Given the description of an element on the screen output the (x, y) to click on. 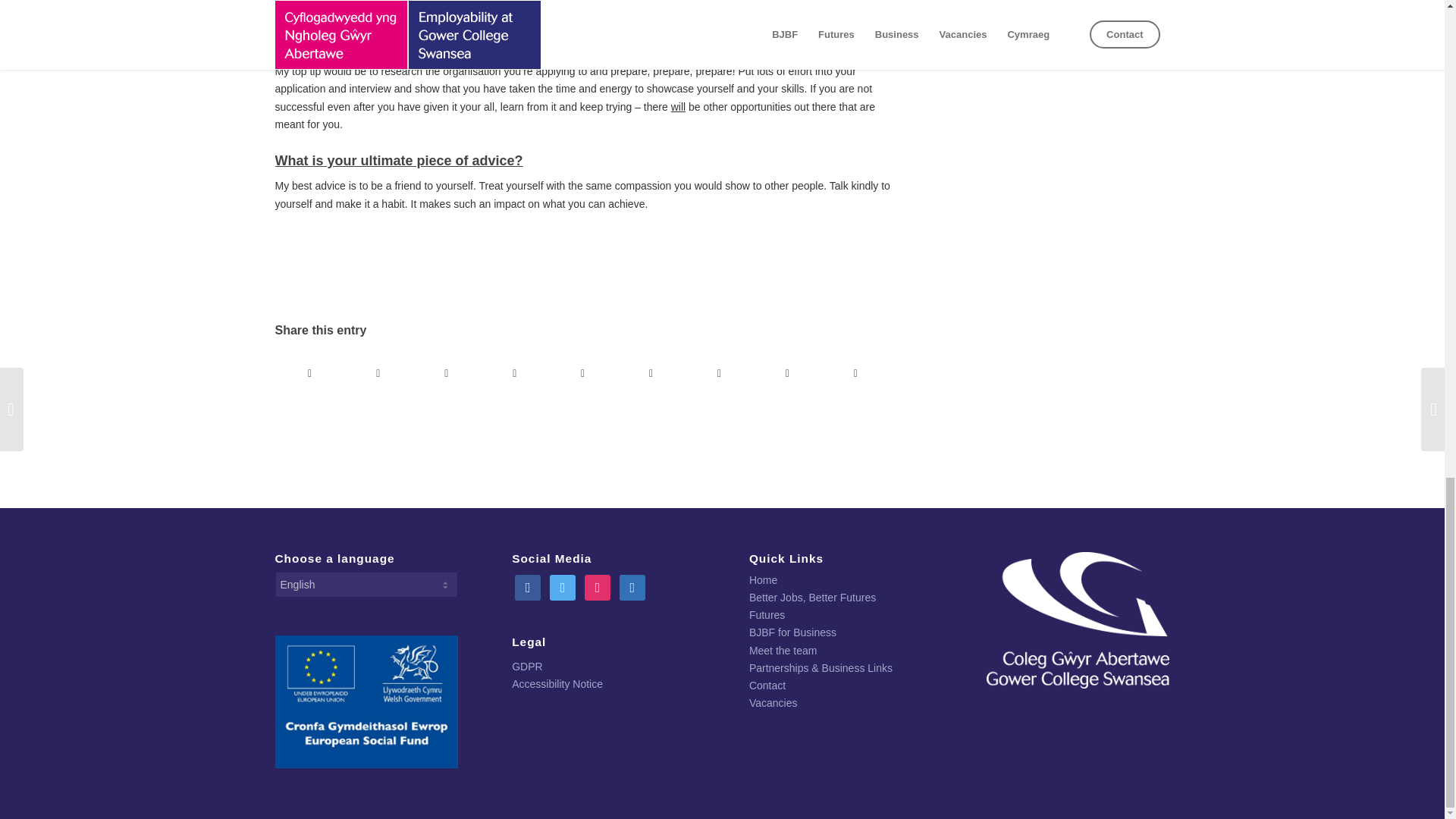
Home (763, 580)
twitter (562, 586)
linkedin (632, 586)
instagram (597, 586)
facebook (527, 586)
Futures (766, 614)
Accessibility Notice (557, 684)
Contact (767, 685)
GDPR (526, 666)
Better Jobs, Better Futures (812, 597)
BJBF for Business (792, 632)
Meet the team (782, 650)
